Given the description of an element on the screen output the (x, y) to click on. 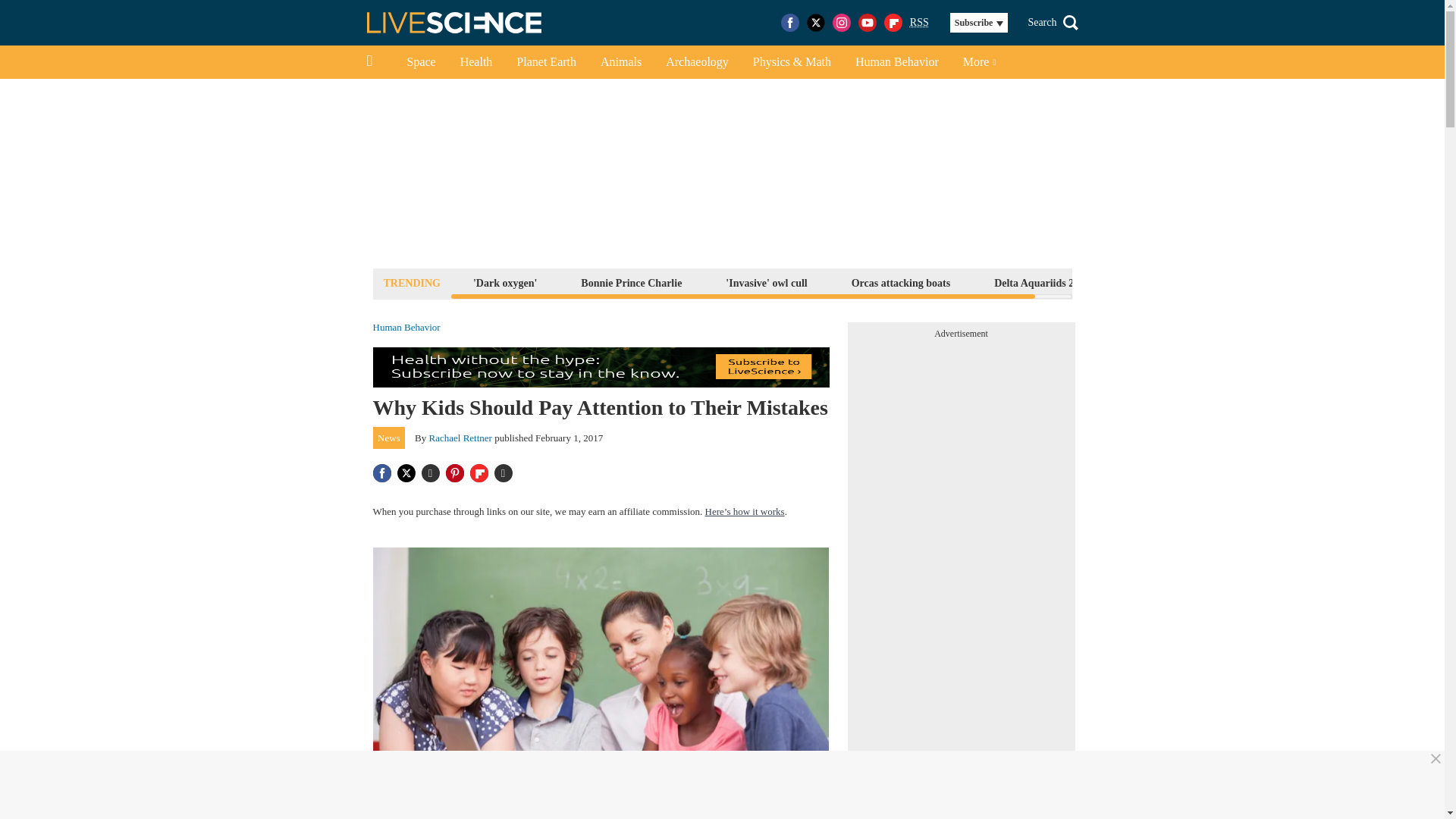
Rachael Rettner (460, 437)
'Invasive' owl cull (766, 282)
RSS (919, 22)
News (389, 437)
Bonnie Prince Charlie (631, 282)
'Dark oxygen' (504, 282)
Animals (620, 61)
Orcas attacking boats (900, 282)
Human Behavior (406, 327)
Health (476, 61)
